Given the description of an element on the screen output the (x, y) to click on. 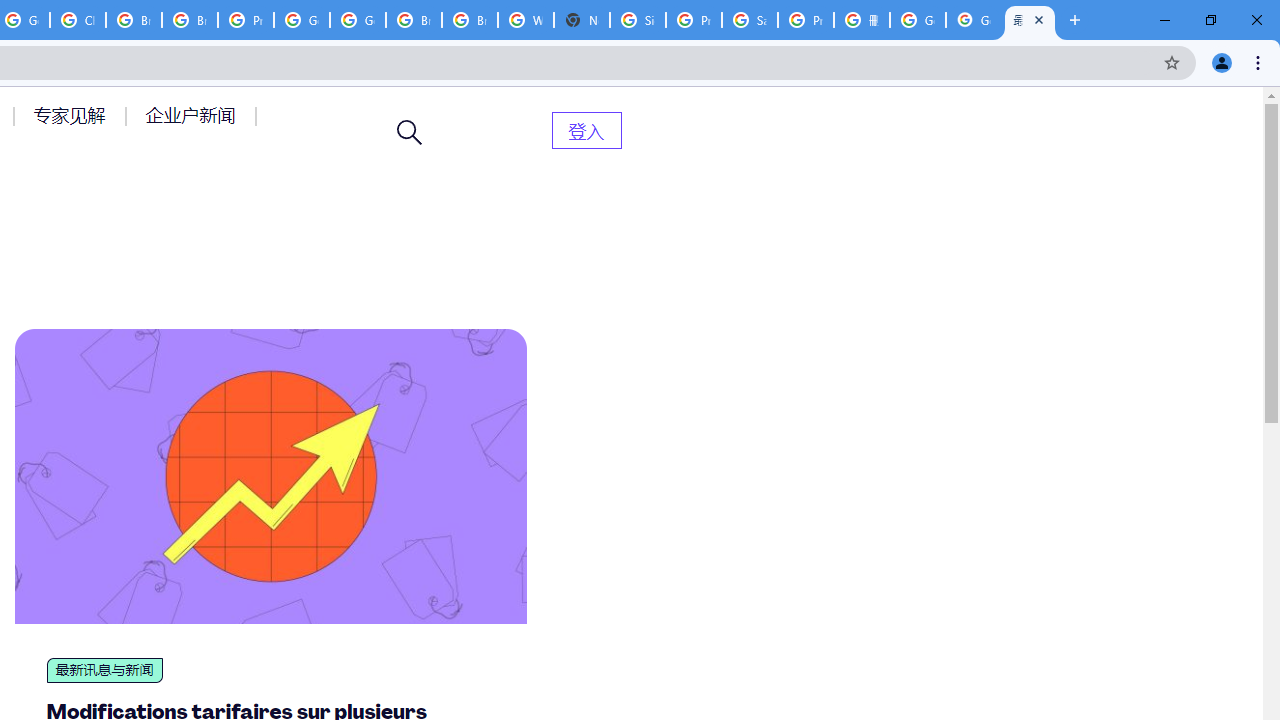
Google Cloud Platform (301, 20)
Open search form (410, 132)
Browse Chrome as a guest - Computer - Google Chrome Help (469, 20)
AutomationID: menu-item-77764 (72, 115)
AutomationID: menu-item-77765 (194, 115)
Google Cloud Platform (358, 20)
